Given the description of an element on the screen output the (x, y) to click on. 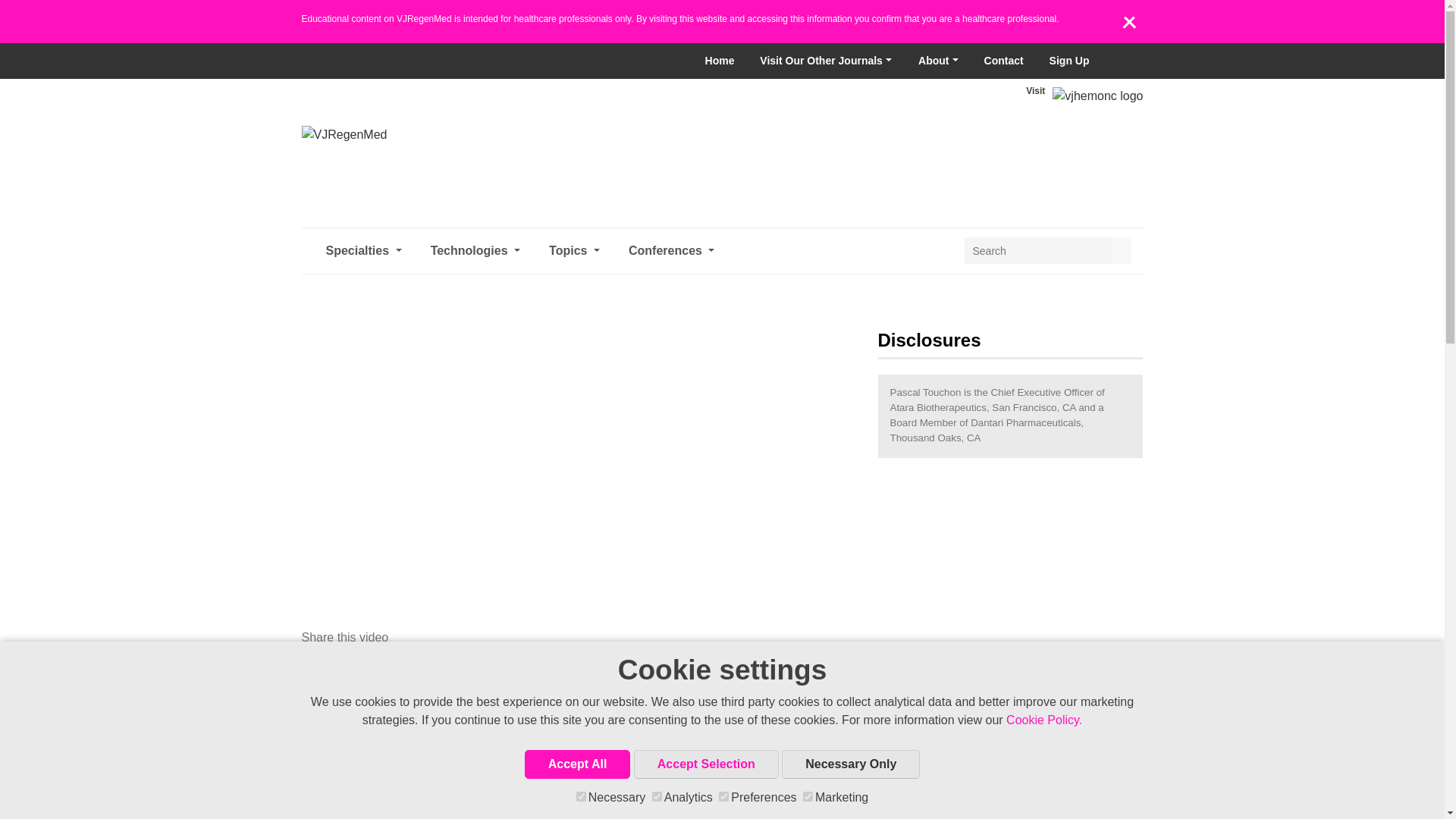
Contact (1003, 60)
Twitter (1121, 61)
Marketing (807, 796)
Analytics (657, 796)
Visit Our Other Journals (825, 60)
About (938, 60)
Preferences (724, 796)
Home (719, 60)
Home (719, 60)
Necessary (581, 796)
